Given the description of an element on the screen output the (x, y) to click on. 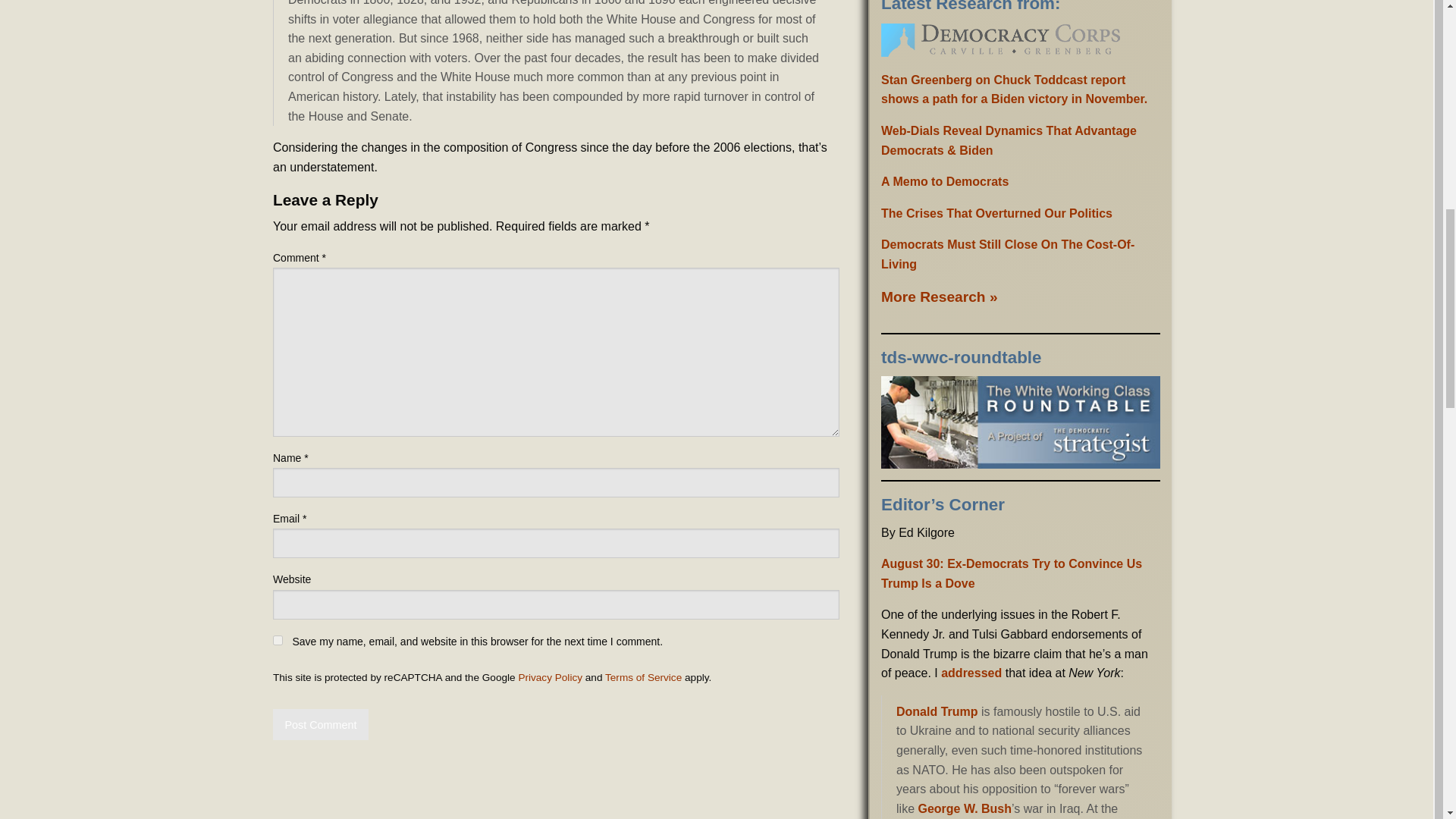
Donald Trump (937, 711)
August 30: Ex-Democrats Try to Convince Us Trump Is a Dove (1010, 573)
Privacy Policy (550, 677)
Post Comment (320, 724)
Democrats Must Still Close On The Cost-Of-Living (1007, 254)
Terms of Service (643, 677)
George W. Bush (964, 808)
yes (277, 640)
A Memo to Democrats (944, 181)
